Given the description of an element on the screen output the (x, y) to click on. 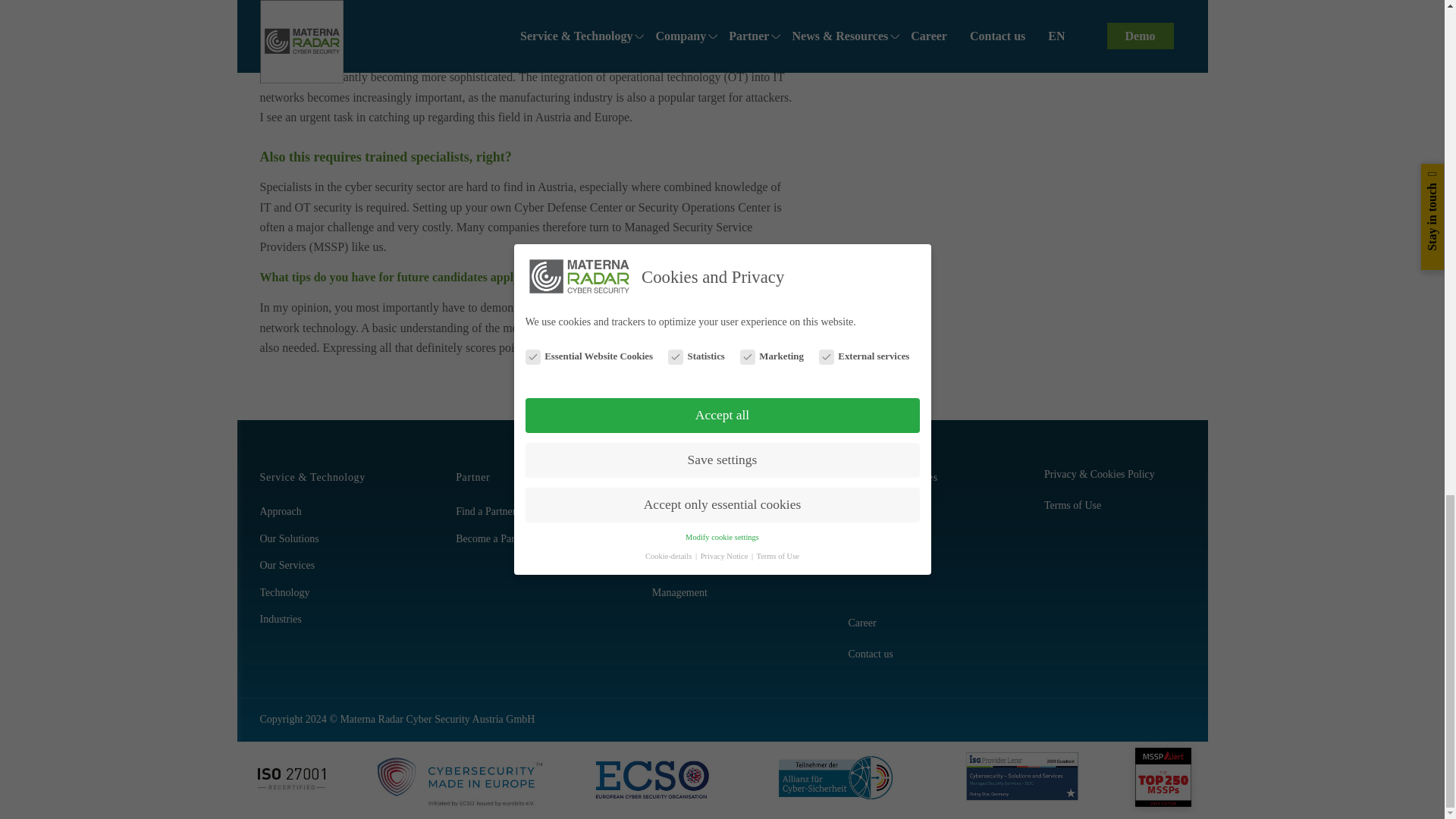
Find a Partner (525, 511)
Industries (328, 619)
Our Services (328, 565)
Technology (328, 592)
Our Solutions (328, 539)
Approach (328, 511)
